Given the description of an element on the screen output the (x, y) to click on. 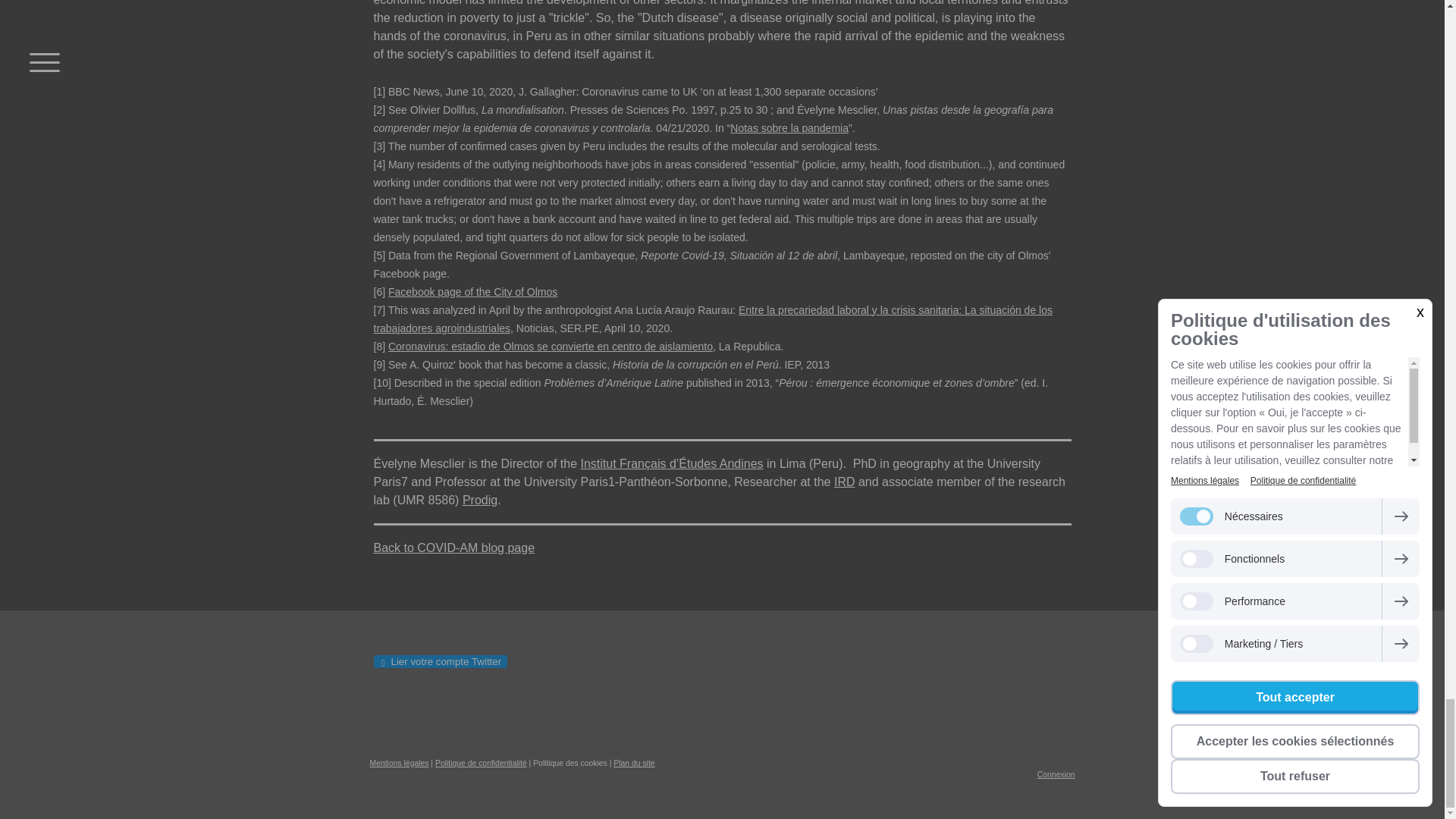
Blog (453, 547)
